Given the description of an element on the screen output the (x, y) to click on. 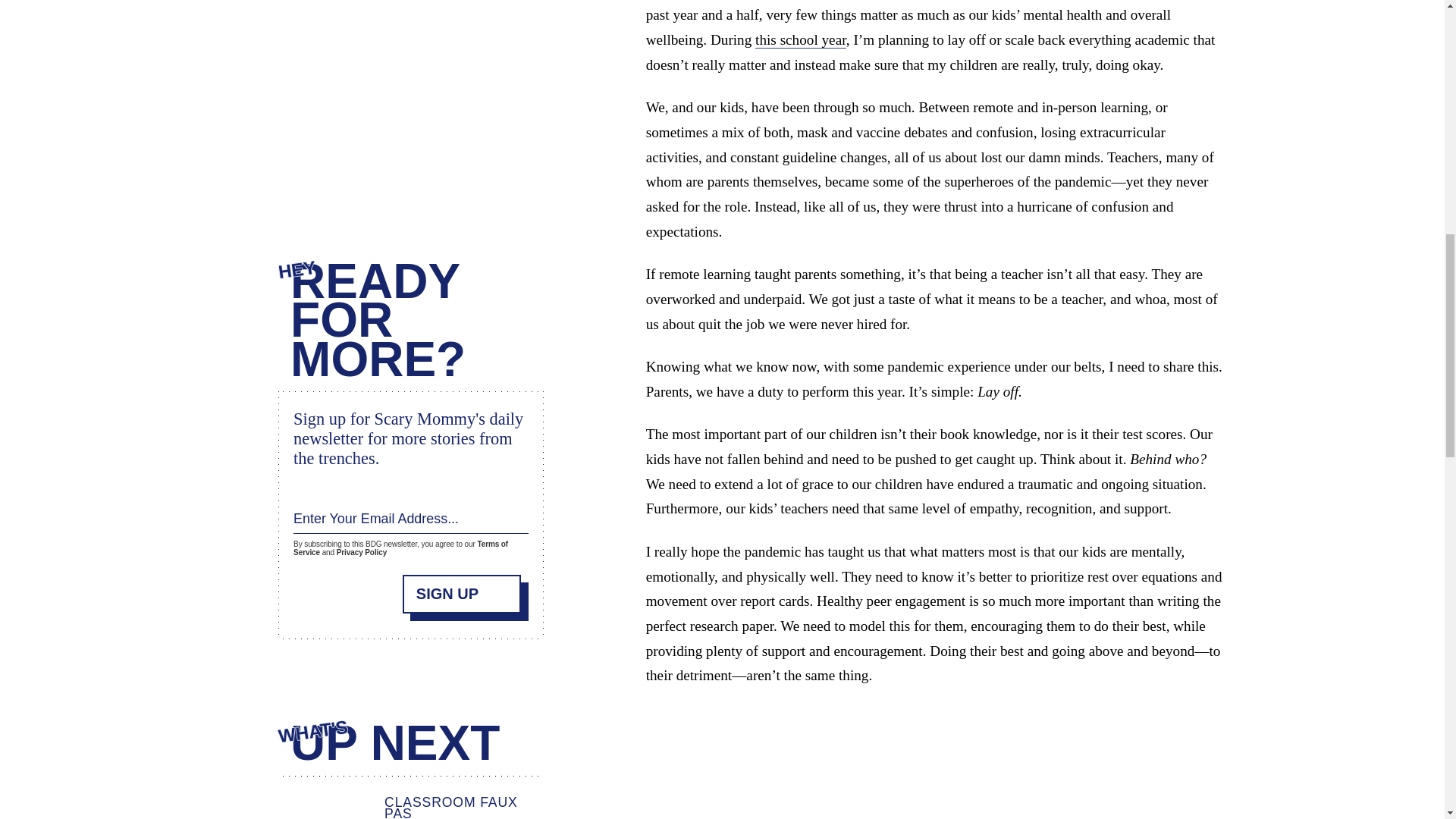
SIGN UP (462, 591)
this school year (800, 39)
Terms of Service (401, 547)
Privacy Policy (361, 551)
